Given the description of an element on the screen output the (x, y) to click on. 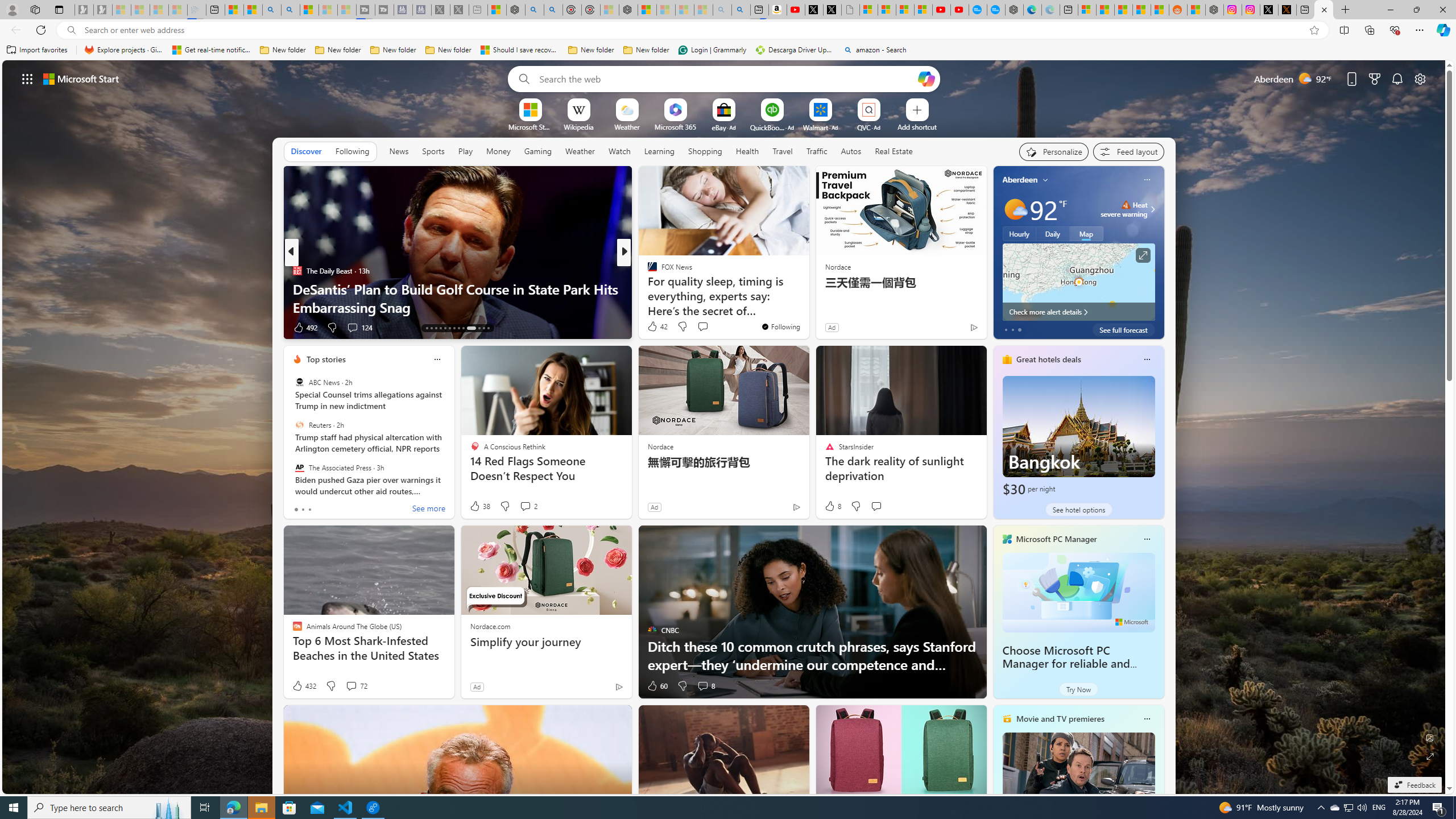
View comments 2 Comment (528, 505)
Gaming (537, 151)
Microsoft 365 (675, 126)
Check more alert details (1077, 311)
Search icon (70, 29)
Six Exercises to Perfect Your Squat (807, 307)
Travel (782, 151)
hotels-header-icon (1006, 358)
Sports (432, 151)
